Given the description of an element on the screen output the (x, y) to click on. 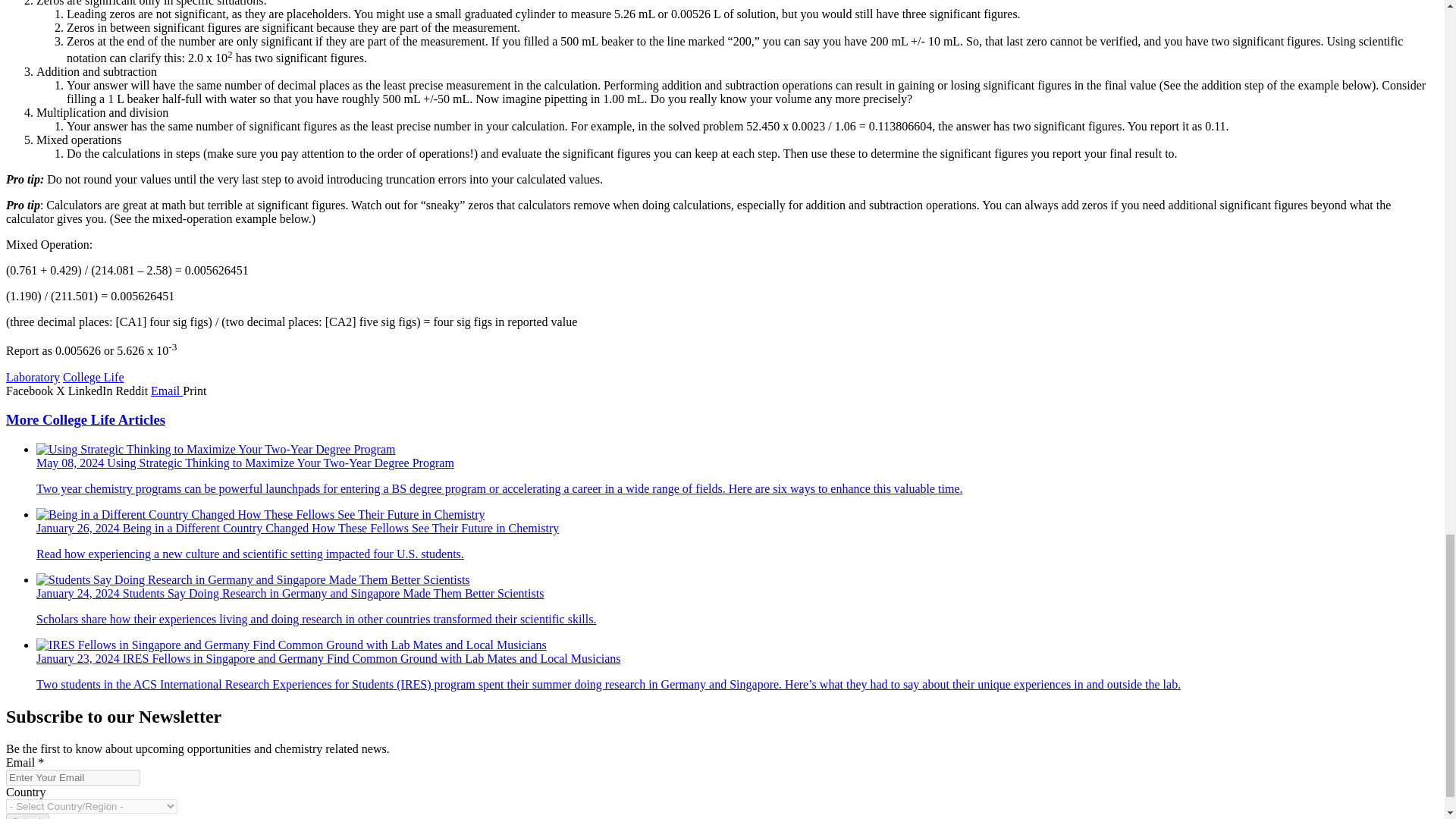
Laboratory (32, 377)
LinkedIn (92, 390)
Facebook (30, 390)
Reddit (133, 390)
Print (194, 390)
Tweet (62, 390)
X (62, 390)
LinkedIn (92, 390)
More College Life Articles (85, 419)
Print (194, 390)
